Given the description of an element on the screen output the (x, y) to click on. 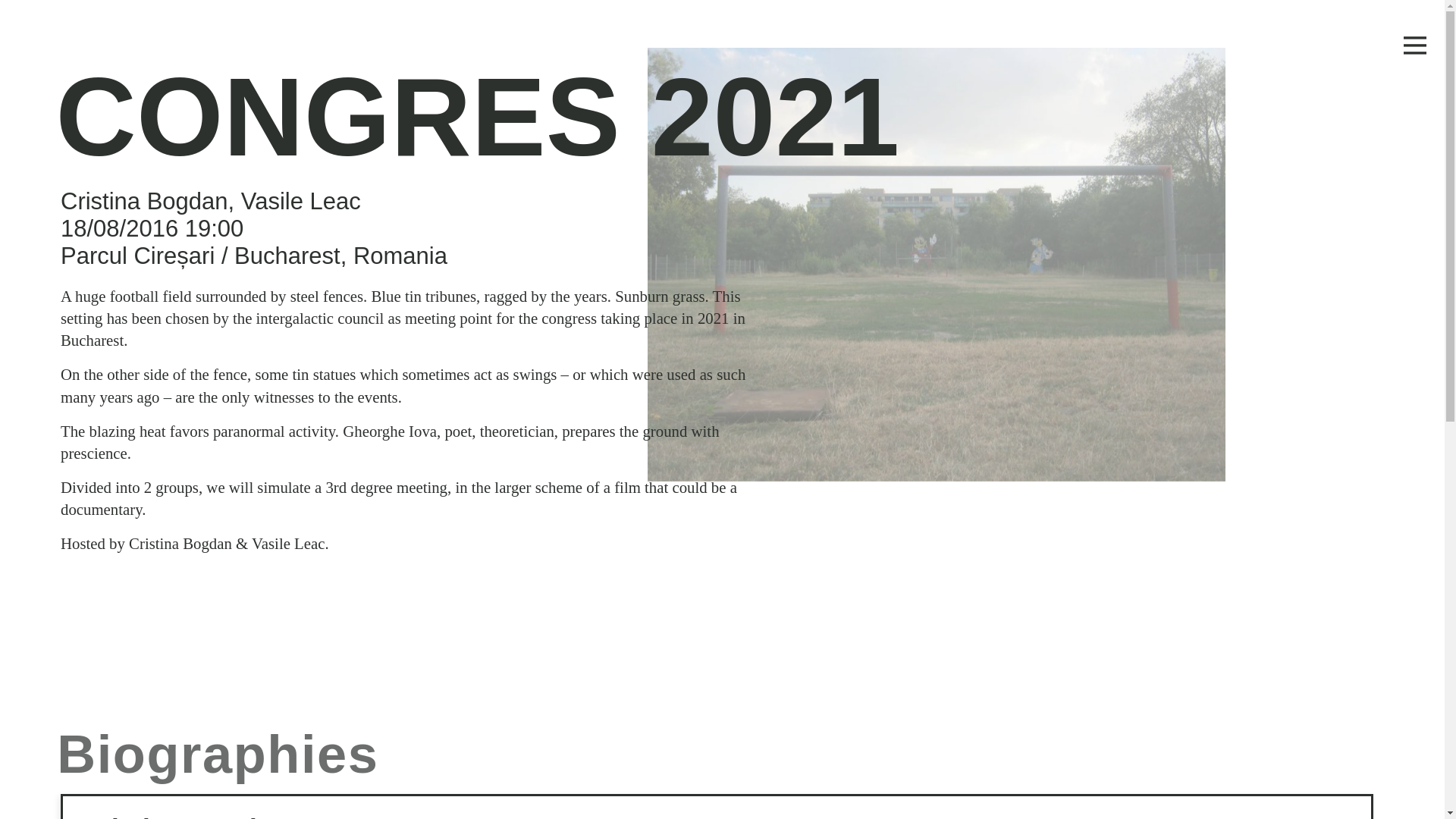
Cristina Bogdan (184, 816)
